Given the description of an element on the screen output the (x, y) to click on. 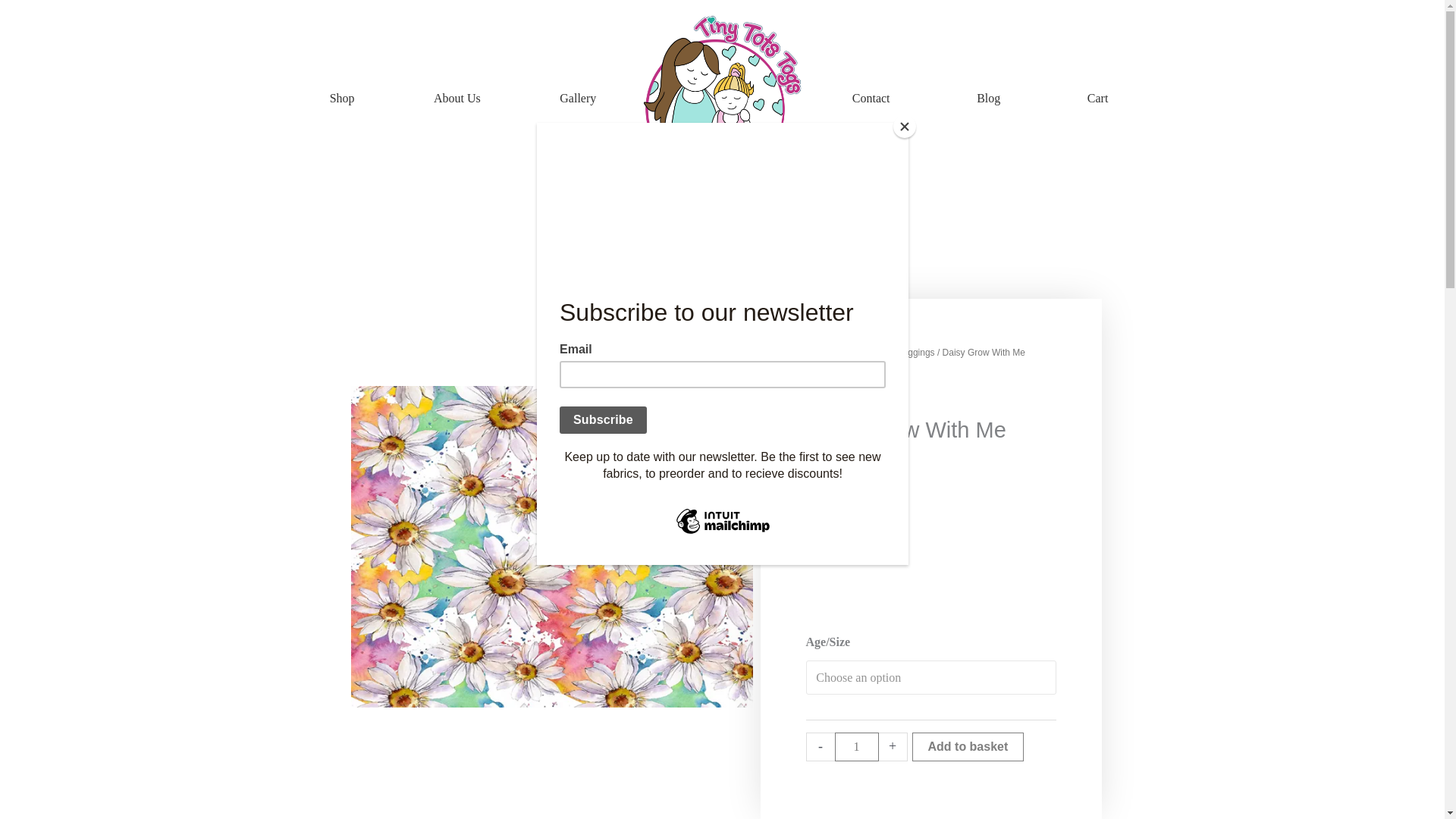
Add to basket (967, 746)
daisy (551, 546)
1 (855, 746)
Grow With Me Leggings (886, 352)
- (819, 746)
Contact (870, 98)
Home (817, 352)
Blog (988, 98)
Cart (1097, 98)
About Us (456, 98)
Shop (341, 98)
Gallery (576, 98)
